Given the description of an element on the screen output the (x, y) to click on. 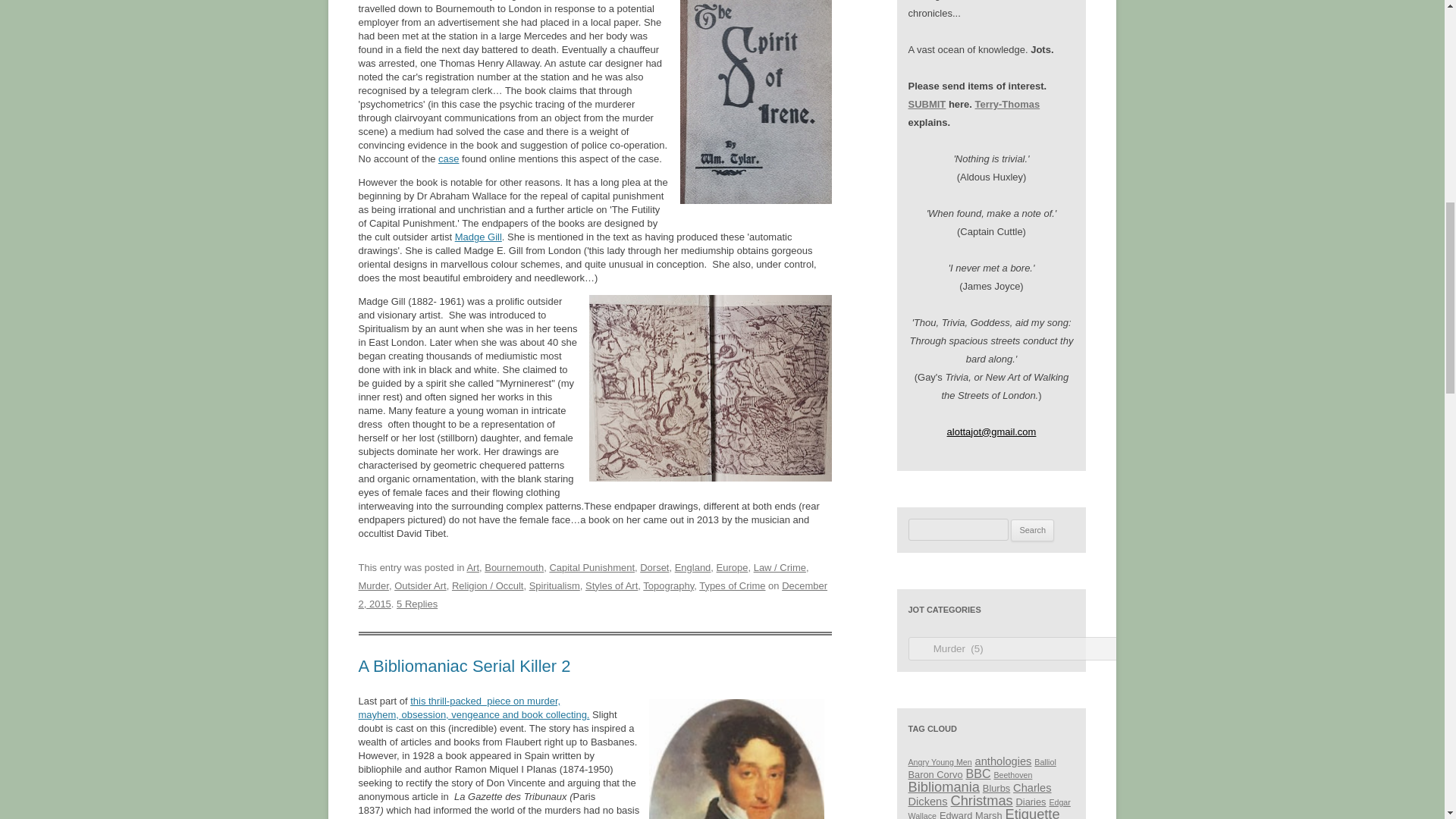
Bournemouth (513, 567)
Dorset (654, 567)
Europe (732, 567)
Search (1032, 530)
Murder (373, 585)
England (693, 567)
1:11 am (592, 594)
Madge Gill (478, 236)
case (448, 158)
Capital Punishment (591, 567)
Art (472, 567)
Outsider Art (420, 585)
